Given the description of an element on the screen output the (x, y) to click on. 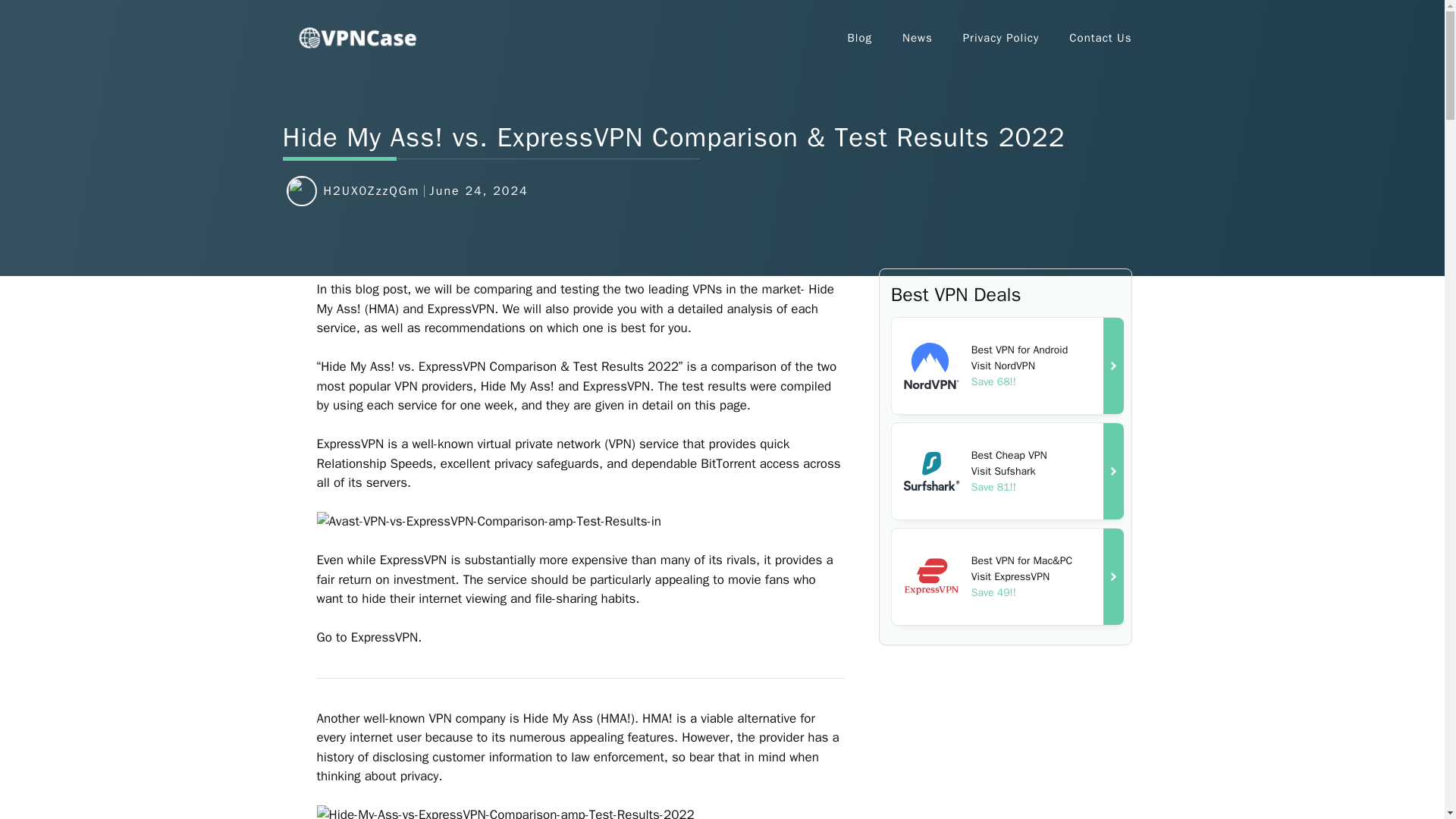
H2UX0ZzzQGm (371, 191)
Surfshark (930, 471)
Blog (859, 37)
News (916, 37)
Privacy Policy (1000, 37)
Contact Us (1100, 37)
ExpressVPN (930, 576)
NordVPN (930, 364)
